Given the description of an element on the screen output the (x, y) to click on. 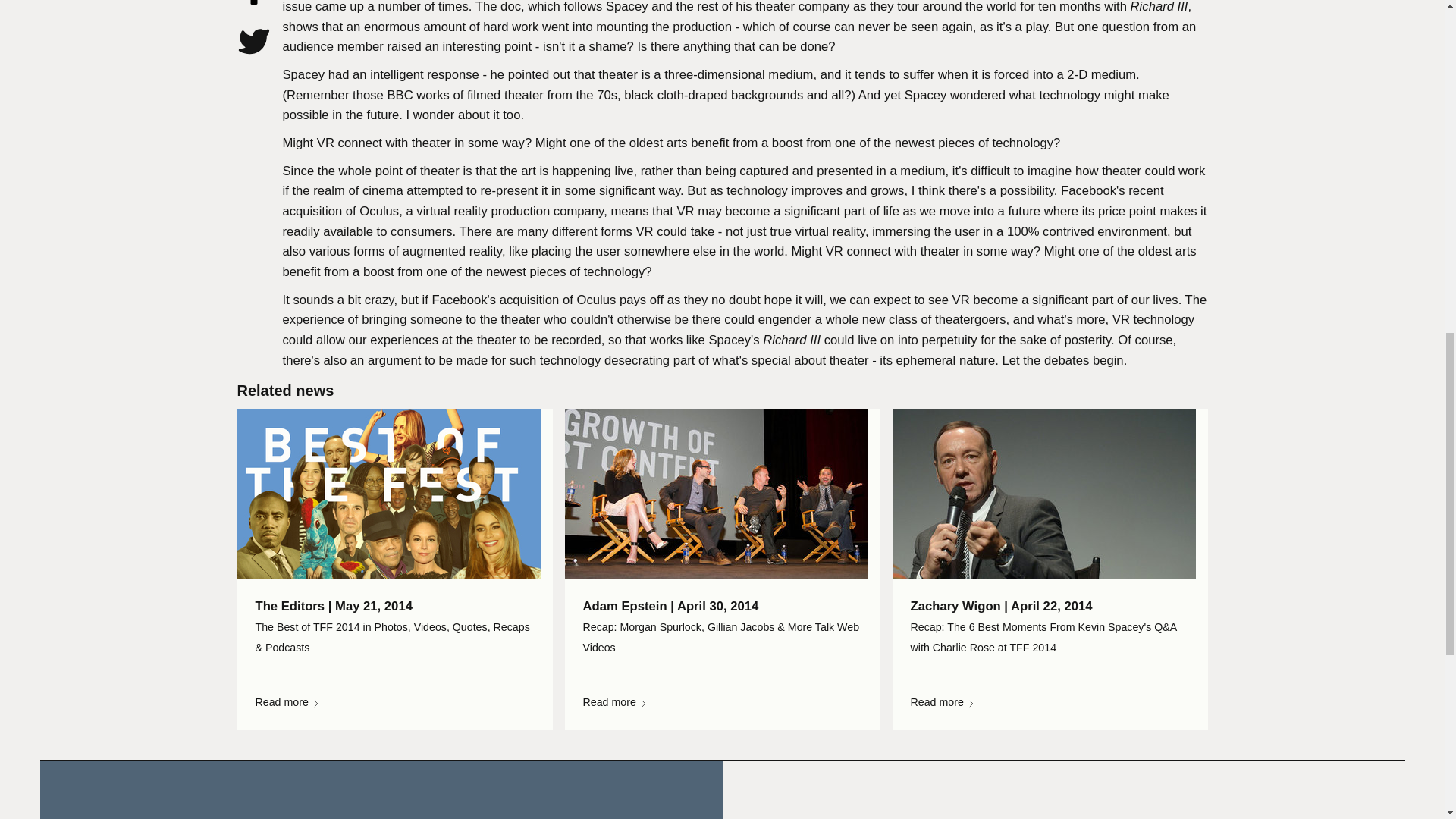
Read more (393, 702)
Read more (721, 702)
Read more (1049, 702)
